Given the description of an element on the screen output the (x, y) to click on. 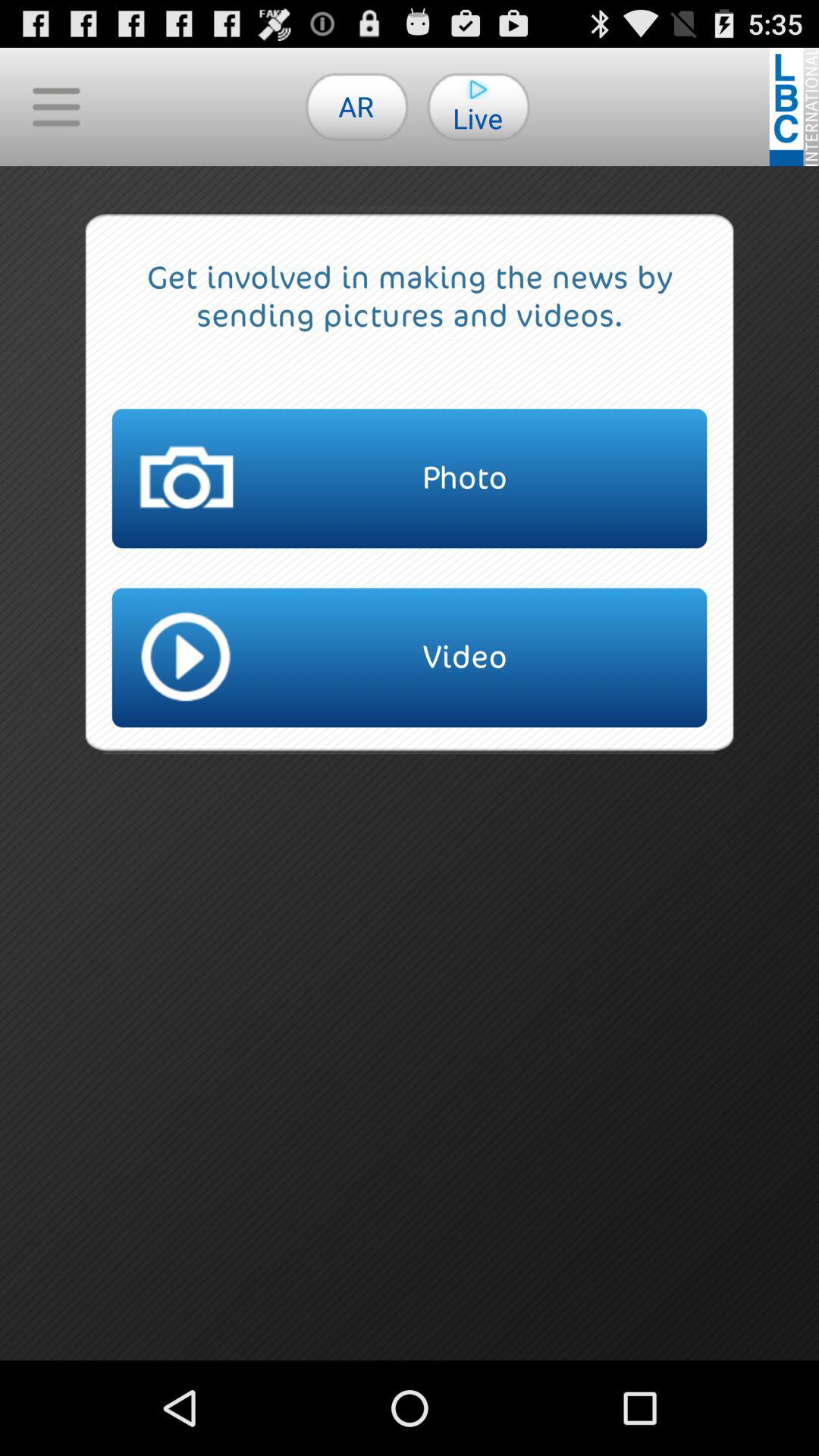
tap the button next to the ar button (55, 106)
